Given the description of an element on the screen output the (x, y) to click on. 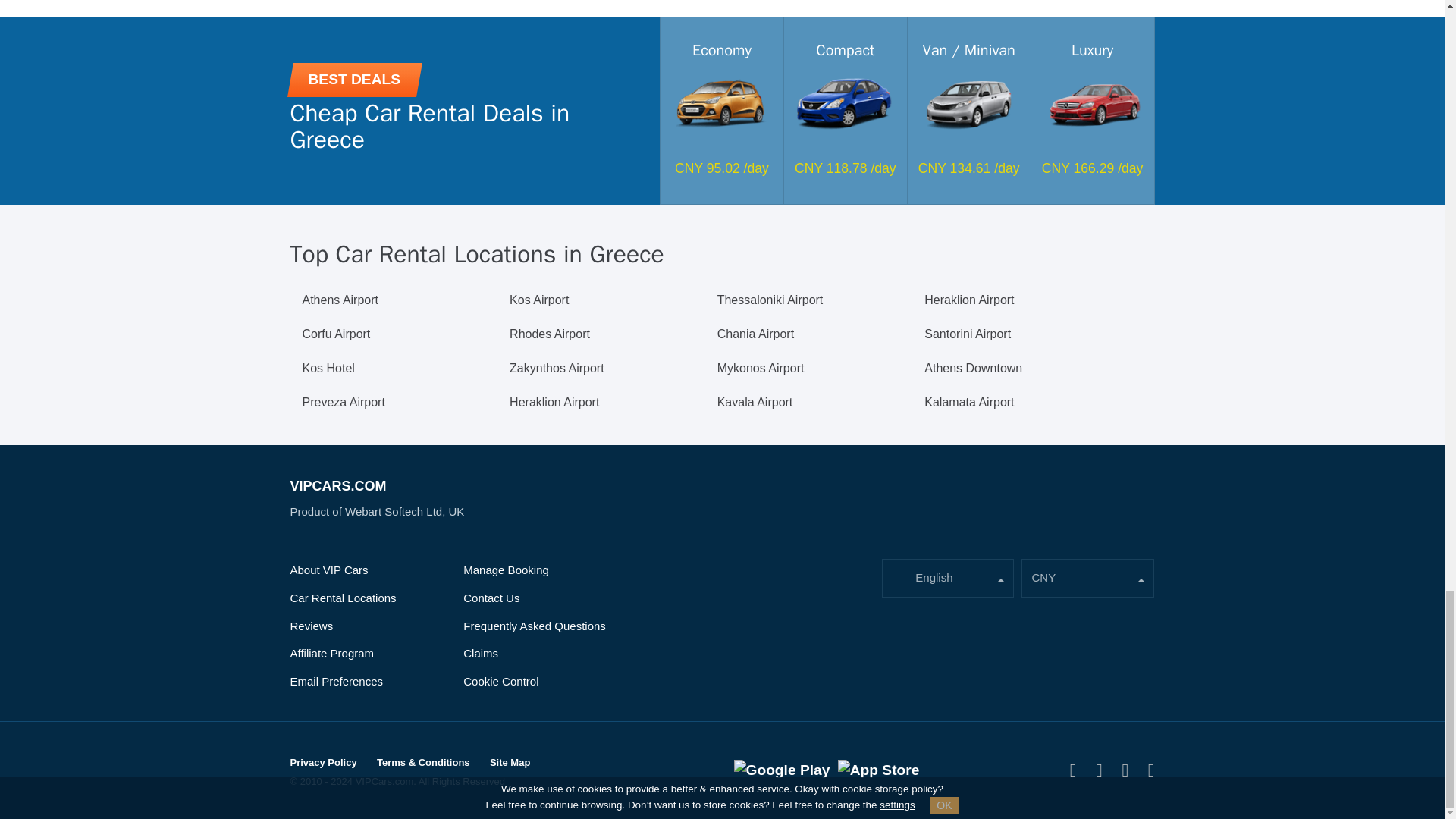
Zakynthos Airport (556, 368)
Rhodes Airport (549, 334)
Athens Airport (339, 300)
Preveza Airport (342, 402)
Kavala Airport (755, 402)
Athens Downtown (973, 368)
Heraklion Airport (968, 300)
Thessaloniki Airport (770, 300)
Heraklion Airport (553, 402)
Kos Airport (539, 300)
Chania Airport (755, 334)
Mykonos Airport (761, 368)
Kos Airport (539, 300)
Corfu Airport (335, 334)
Santorini Airport (967, 334)
